Given the description of an element on the screen output the (x, y) to click on. 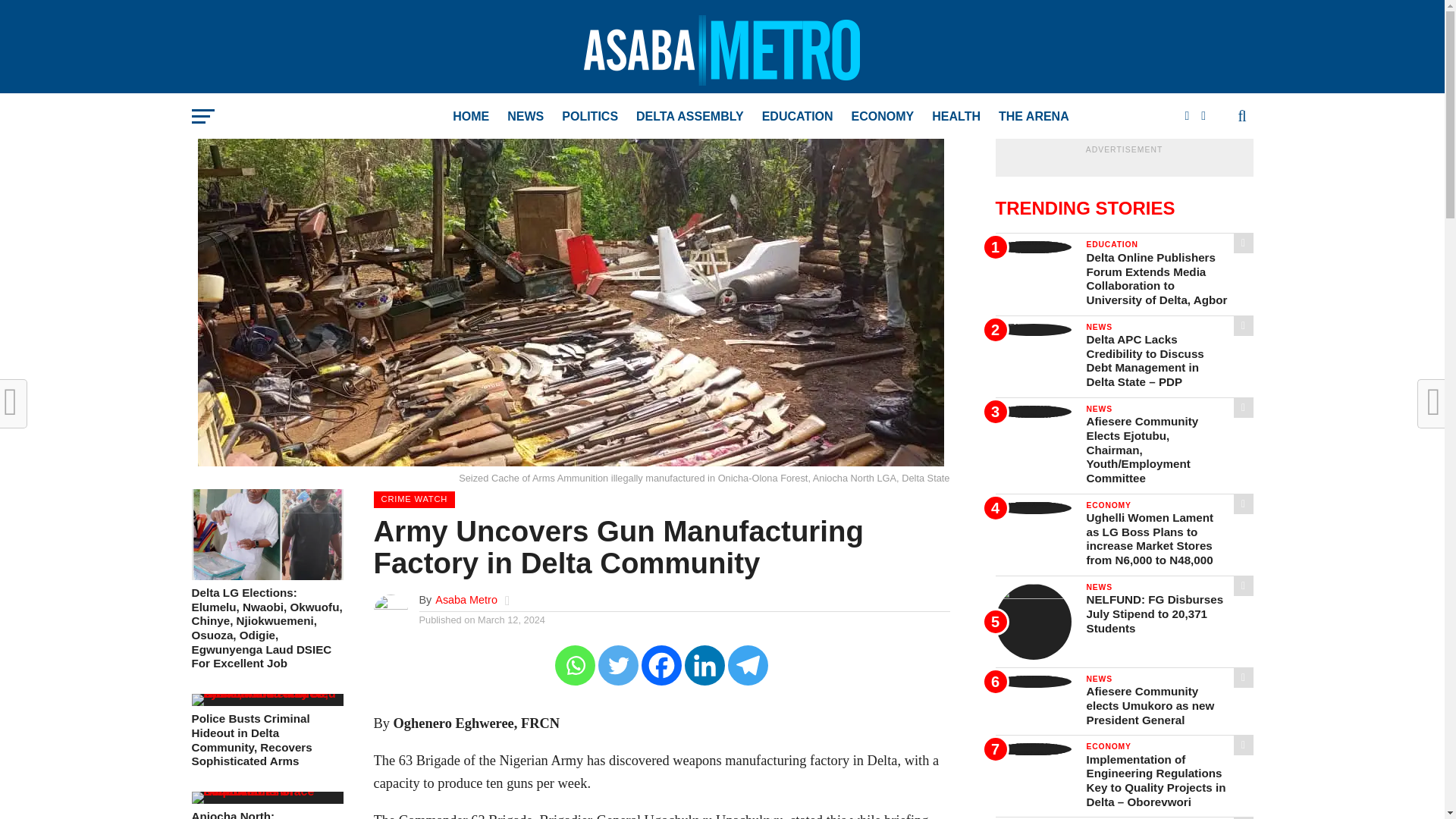
ECONOMY (883, 116)
NEWS (525, 116)
EDUCATION (797, 116)
Posts by Asaba Metro (466, 599)
Telegram (748, 665)
Linkedin (704, 665)
Whatsapp (574, 665)
Facebook (661, 665)
